Given the description of an element on the screen output the (x, y) to click on. 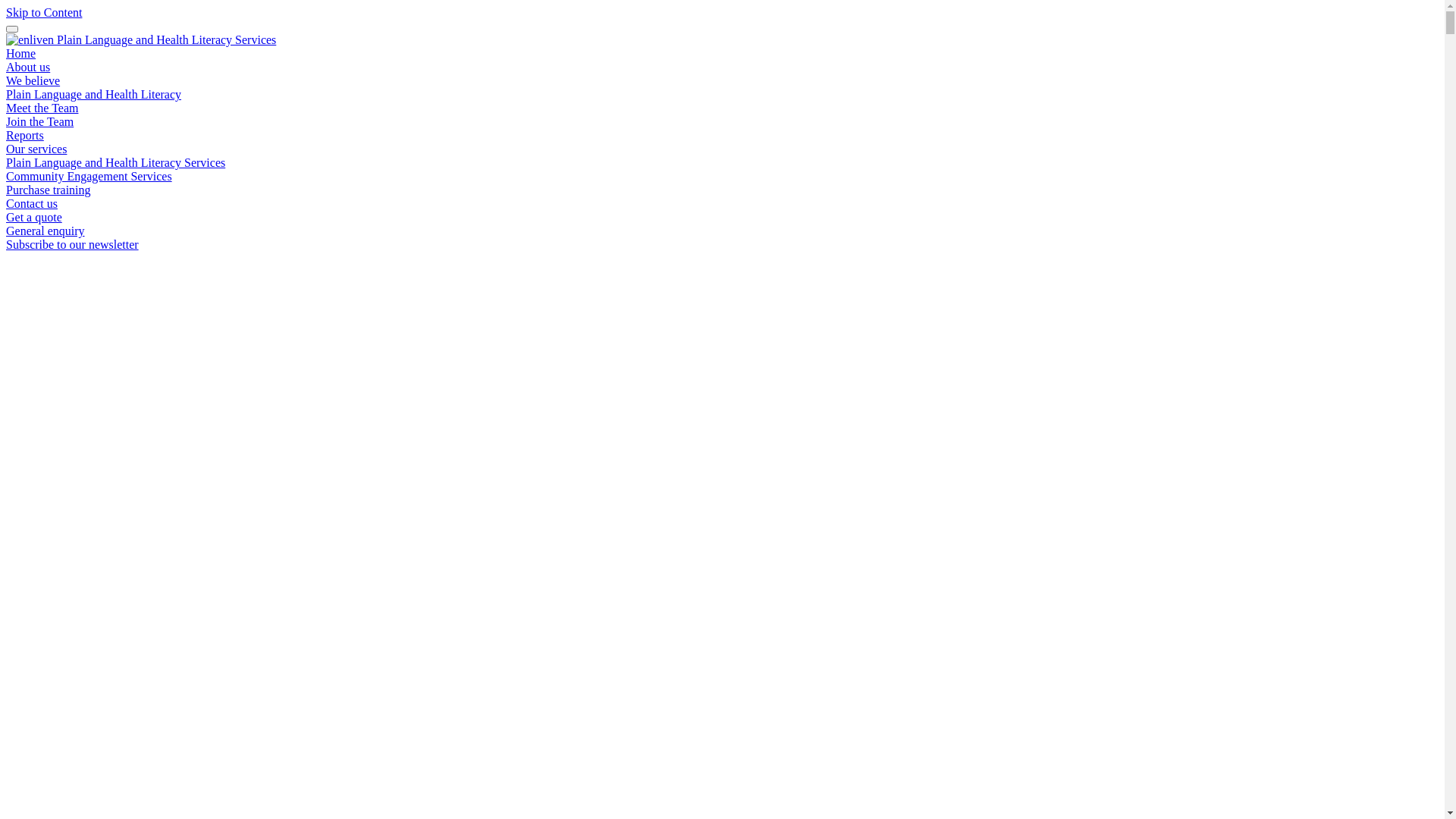
Skip to Content Element type: text (43, 12)
Reports Element type: text (24, 134)
Join the Team Element type: text (39, 121)
Contact us Element type: text (31, 203)
Plain Language and Health Literacy Element type: text (93, 93)
Plain Language and Health Literacy Services Element type: text (115, 162)
Meet the Team Element type: text (42, 107)
About us Element type: text (28, 66)
General enquiry Element type: text (45, 230)
Community Engagement Services Element type: text (89, 175)
Home Element type: text (20, 53)
Subscribe to our newsletter Element type: text (72, 244)
We believe Element type: text (32, 80)
Our services Element type: text (36, 148)
Purchase training Element type: text (48, 189)
Get a quote Element type: text (34, 216)
